Given the description of an element on the screen output the (x, y) to click on. 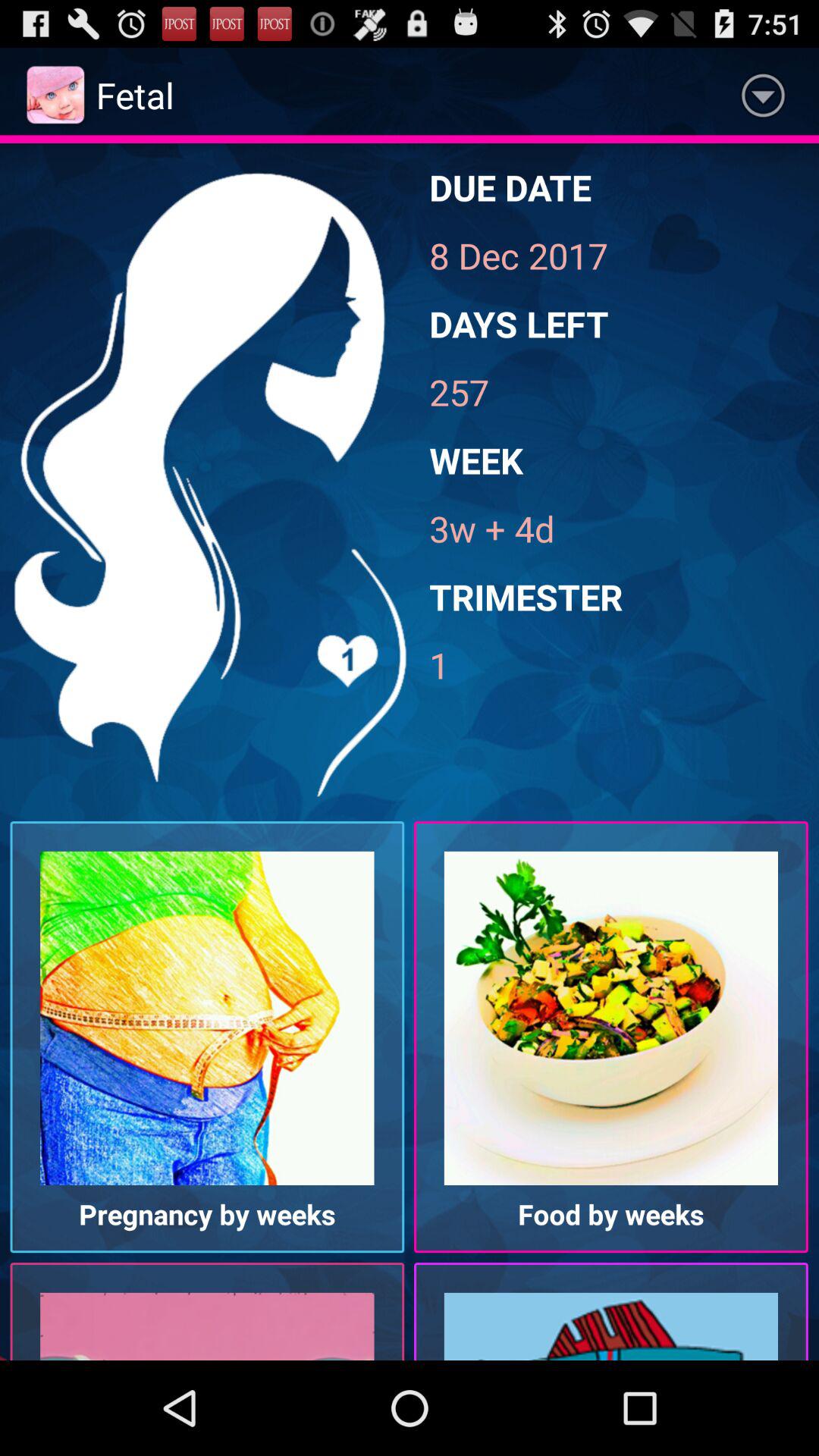
click item above due date item (763, 95)
